Given the description of an element on the screen output the (x, y) to click on. 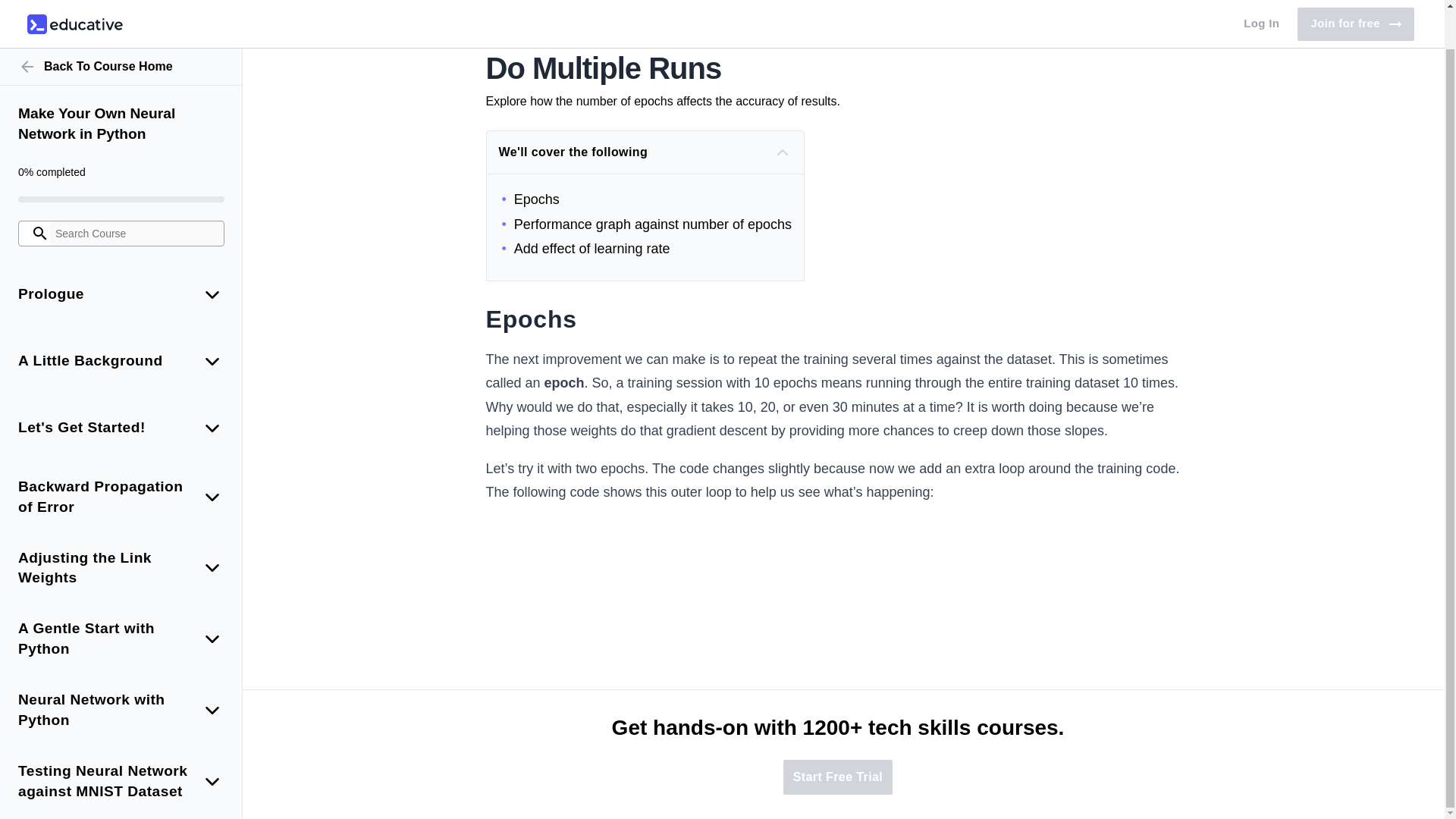
Make Your Own Neural Network in Python (121, 83)
Log In (1261, 3)
Back To Course Home (121, 25)
